Given the description of an element on the screen output the (x, y) to click on. 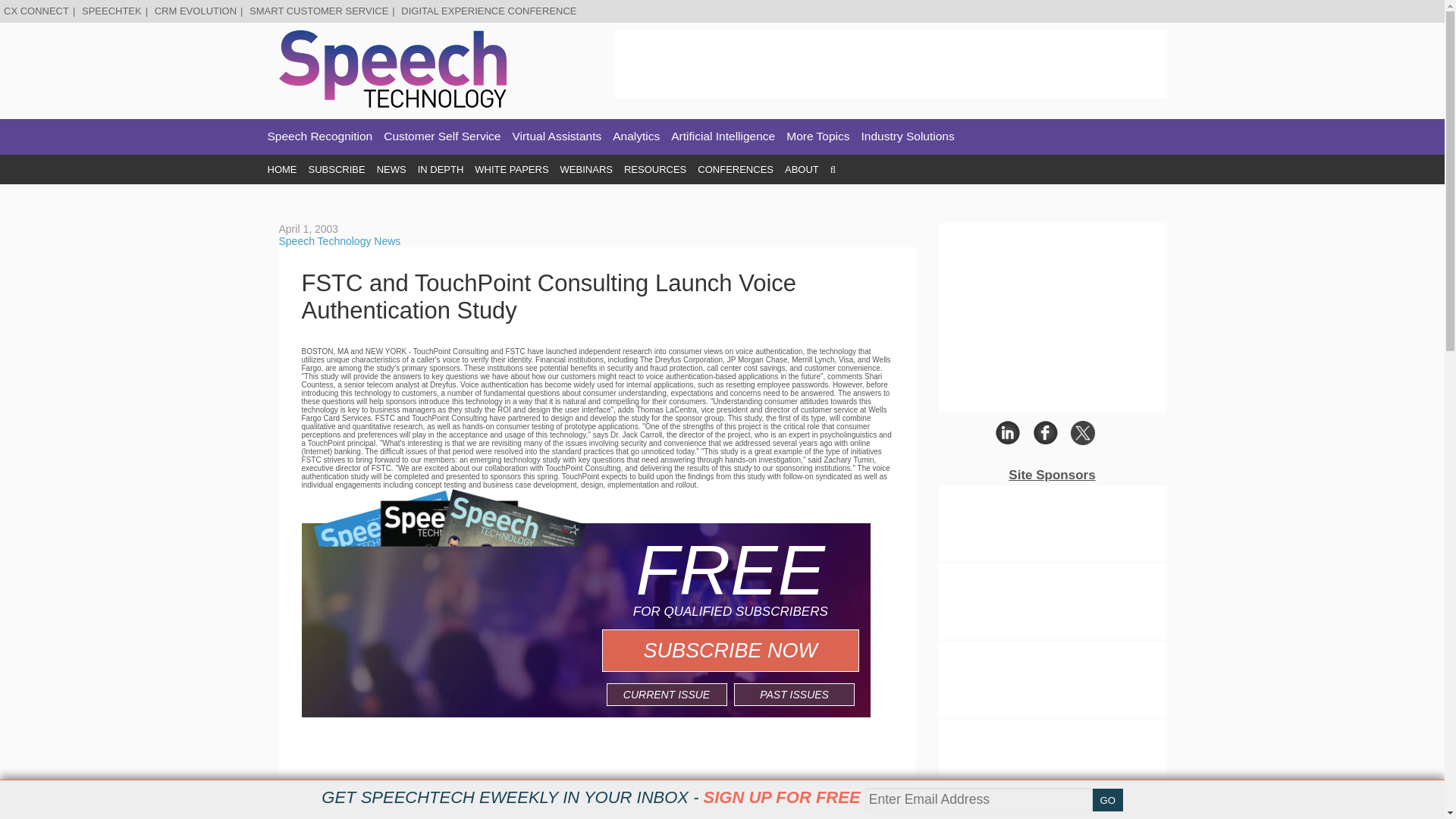
Virtual Assistants (556, 136)
GO (1107, 799)
DIGITAL EXPERIENCE CONFERENCE (488, 10)
Artificial Intelligence (722, 136)
Analytics (635, 136)
Customer Self Service (442, 136)
SMART CUSTOMER SERVICE (318, 10)
Industry Solutions (908, 136)
Speech Recognition (319, 136)
GET SPEECHTECH EWEEKLY IN YOUR INBOX - SIGN UP FOR FREE (590, 797)
